Given the description of an element on the screen output the (x, y) to click on. 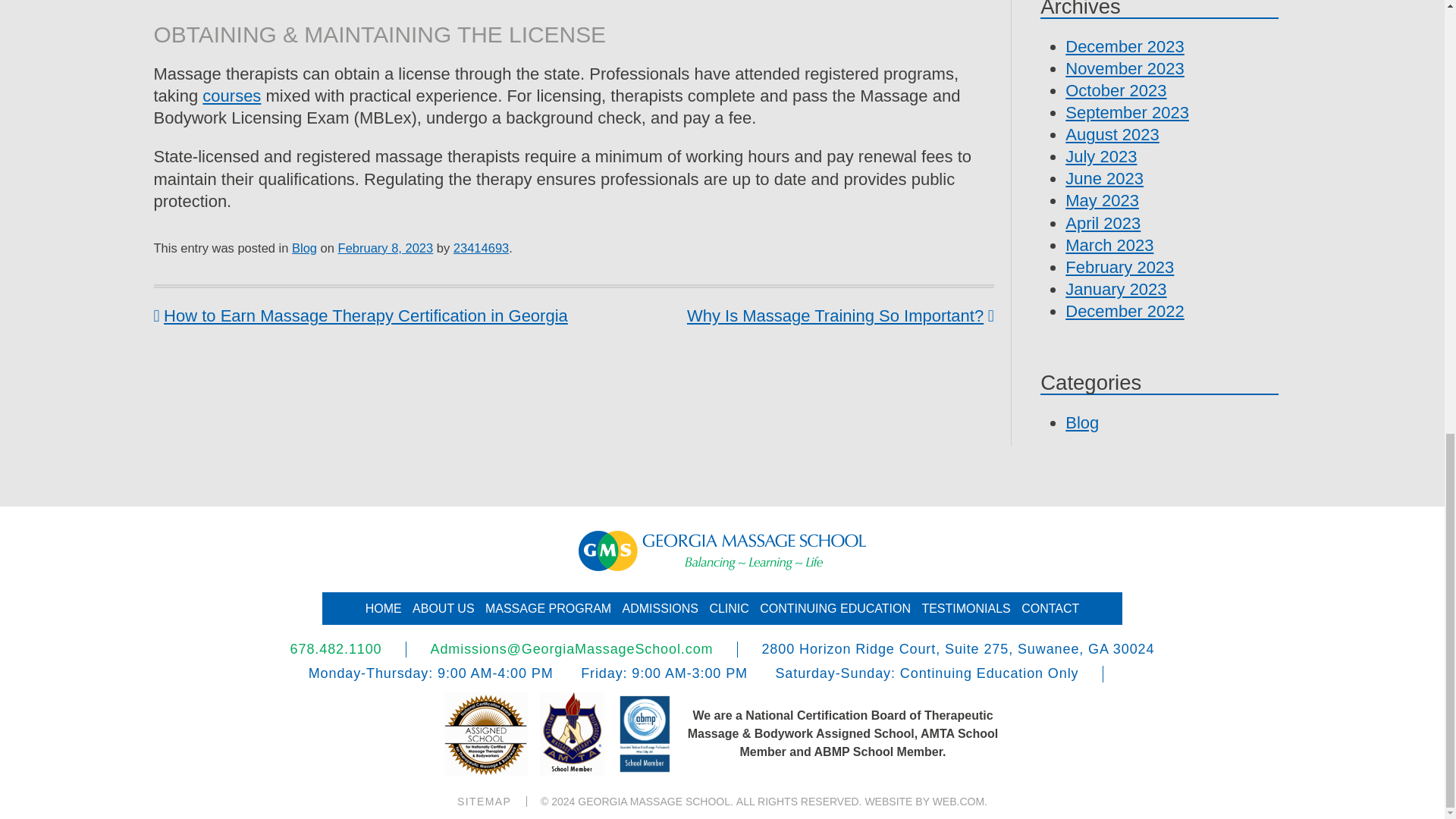
8:57 pm (385, 247)
View all posts by 23414693 (480, 247)
